Given the description of an element on the screen output the (x, y) to click on. 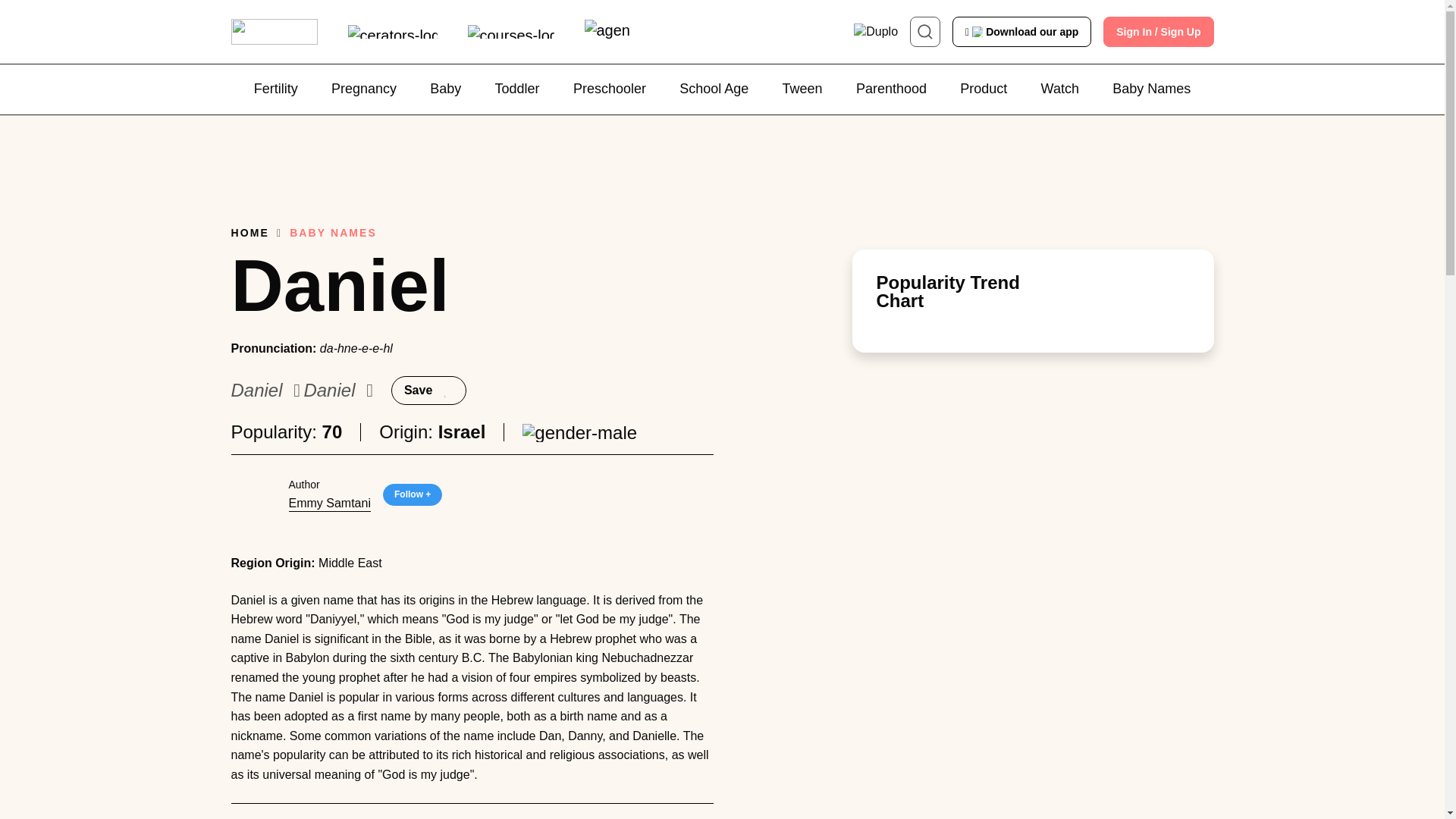
Lego Duplo (875, 31)
playstore-btn (1023, 31)
Download our app (1023, 31)
Fertility (275, 88)
Toddler (517, 88)
kiincourses (510, 31)
kiinagency (605, 31)
kiincreators (391, 31)
Pregnancy (363, 88)
Fertility (275, 88)
Pregnancy (363, 88)
kiindred (273, 31)
